Given the description of an element on the screen output the (x, y) to click on. 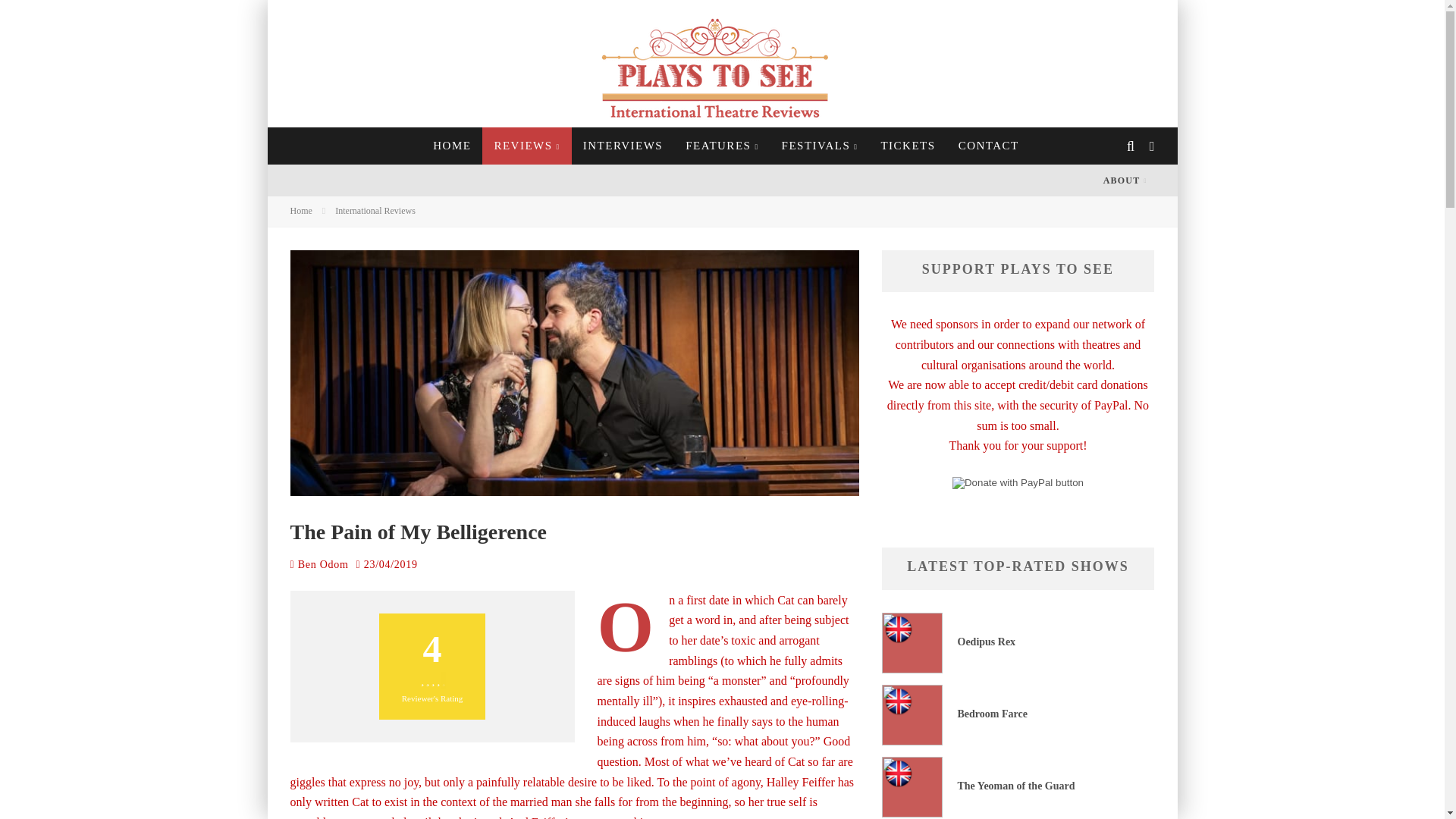
HOME (451, 145)
PayPal - The safer, easier way to pay online! (1017, 481)
REVIEWS (525, 145)
